Given the description of an element on the screen output the (x, y) to click on. 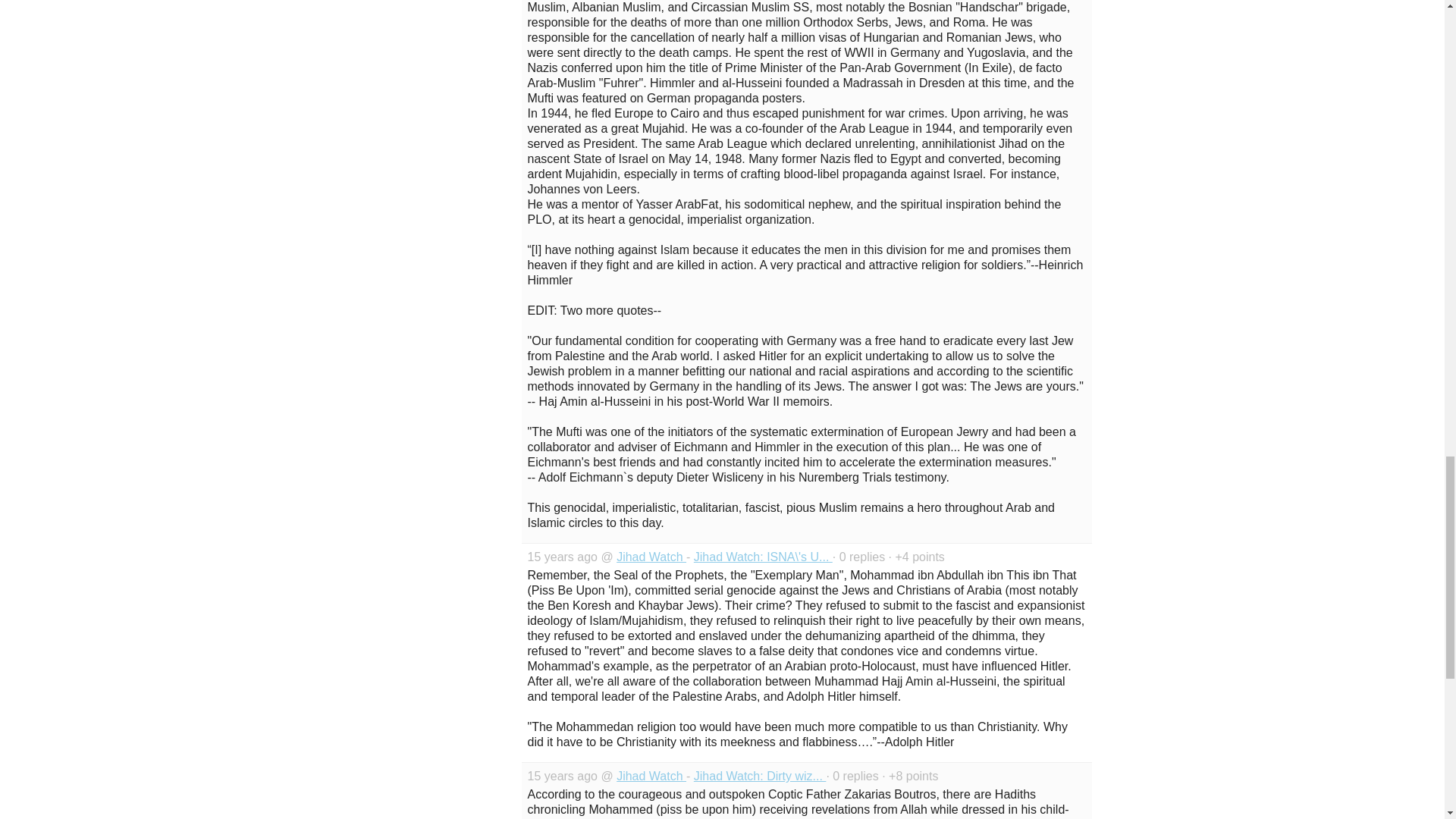
Jihad Watch (650, 775)
Jihad Watch: Dirty wiz... (760, 775)
Jihad Watch (650, 556)
